Given the description of an element on the screen output the (x, y) to click on. 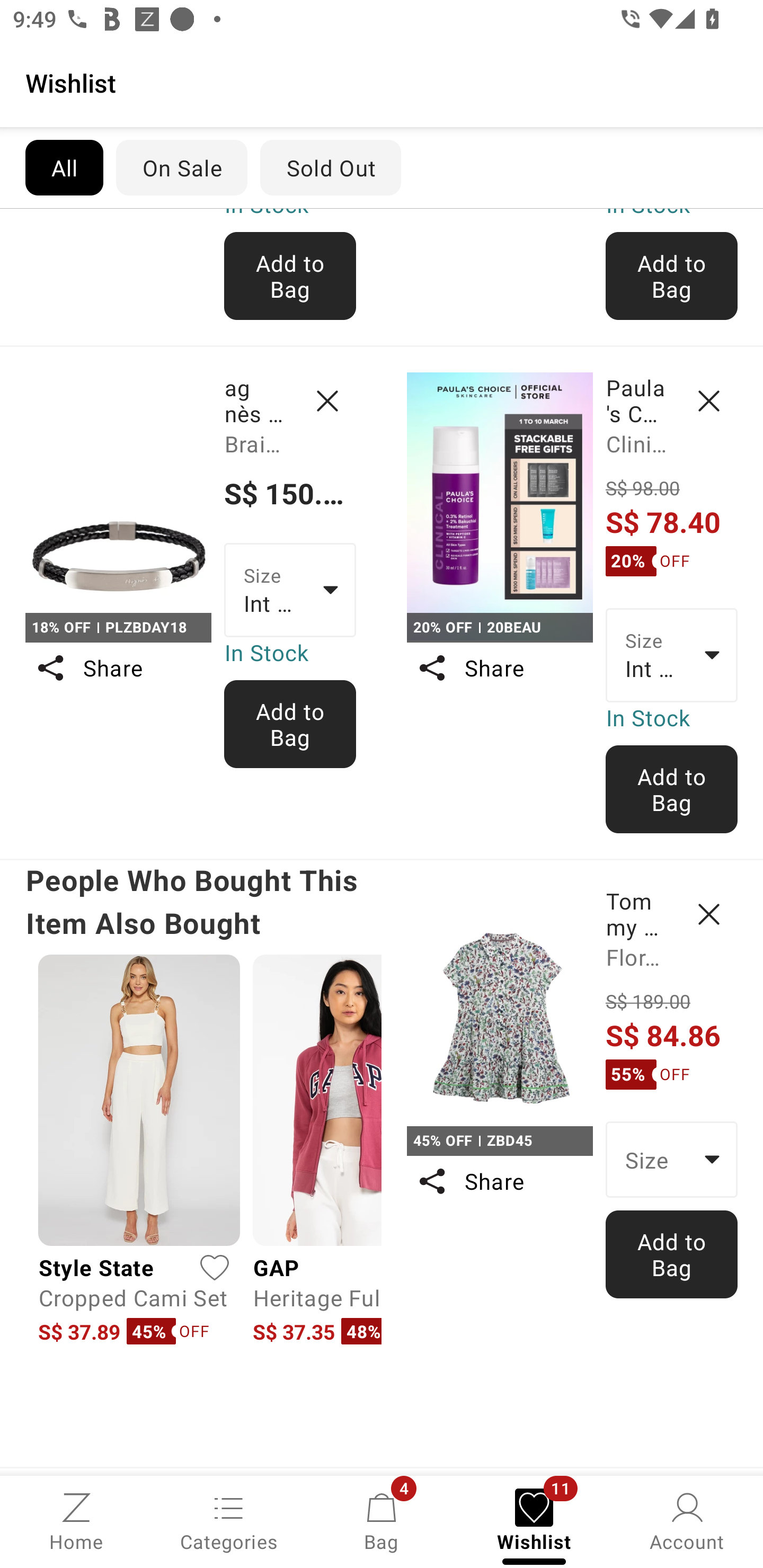
Wishlist (381, 82)
All (64, 167)
On Sale (181, 167)
Sold Out (330, 167)
Add to Bag (290, 275)
Add to Bag (671, 275)
Size Int One Size (290, 589)
Size Int 30 ml (671, 655)
Share (118, 667)
Share (499, 667)
Add to Bag (290, 724)
Add to Bag (671, 788)
Size (671, 1159)
Share (499, 1181)
Add to Bag (671, 1254)
Home (76, 1519)
Categories (228, 1519)
Bag, 4 new notifications Bag (381, 1519)
Account (686, 1519)
